Given the description of an element on the screen output the (x, y) to click on. 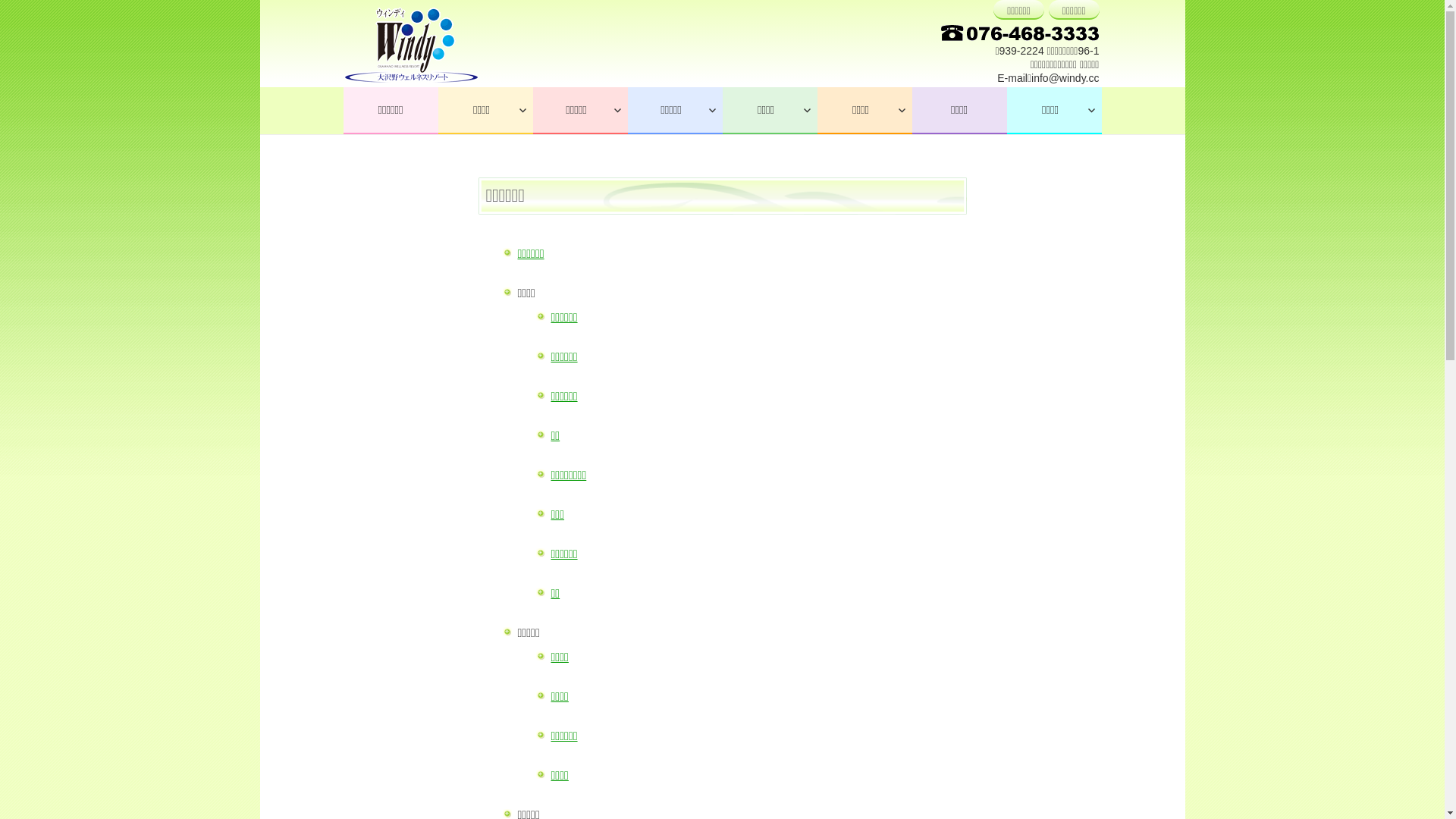
info@windy.cc Element type: text (1064, 78)
